Given the description of an element on the screen output the (x, y) to click on. 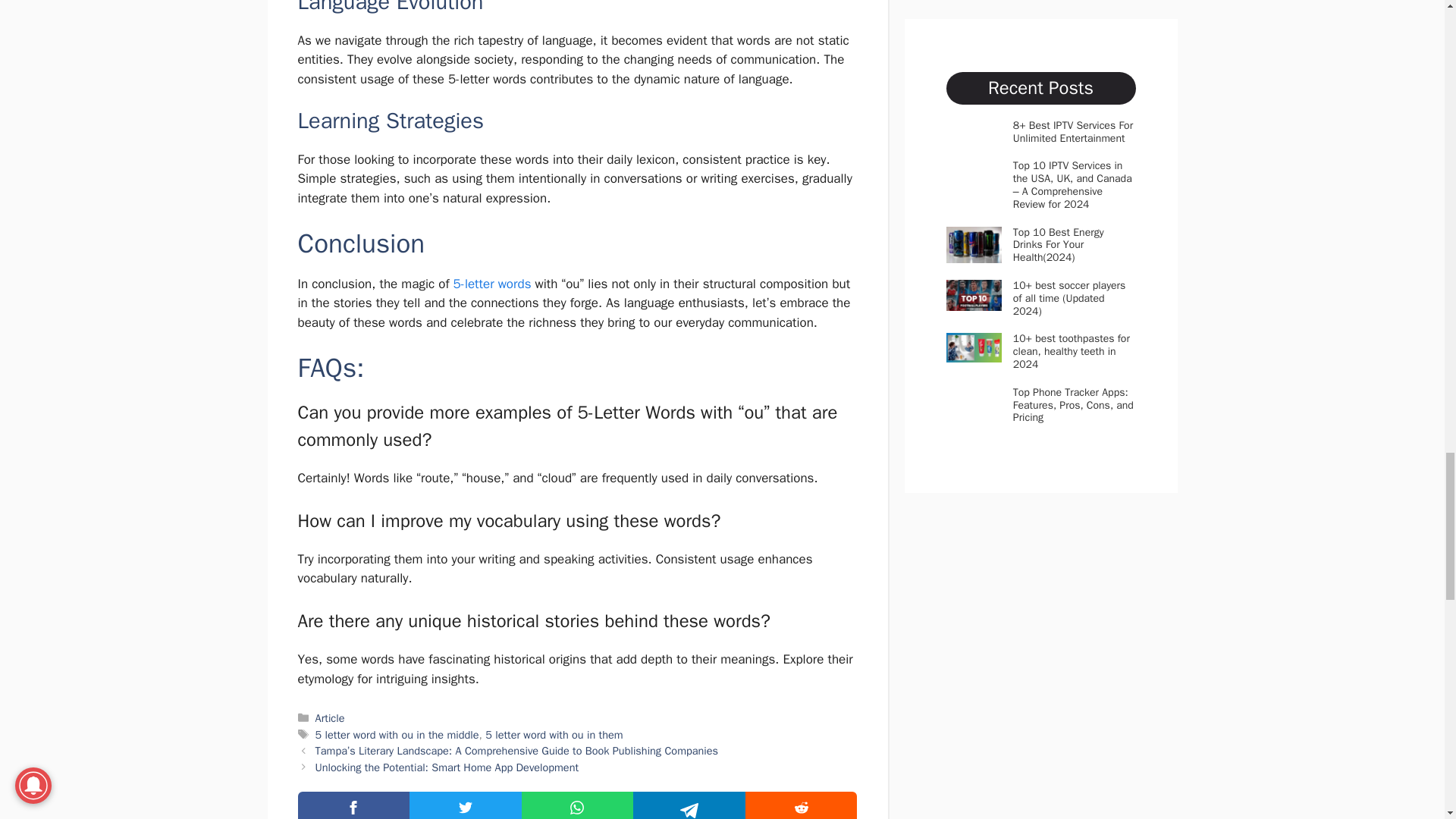
5-letter words (491, 283)
5 letter word with ou in the middle (397, 735)
Article (330, 717)
5 letter word with ou in them (553, 735)
Unlocking the Potential: Smart Home App Development (446, 766)
